Given the description of an element on the screen output the (x, y) to click on. 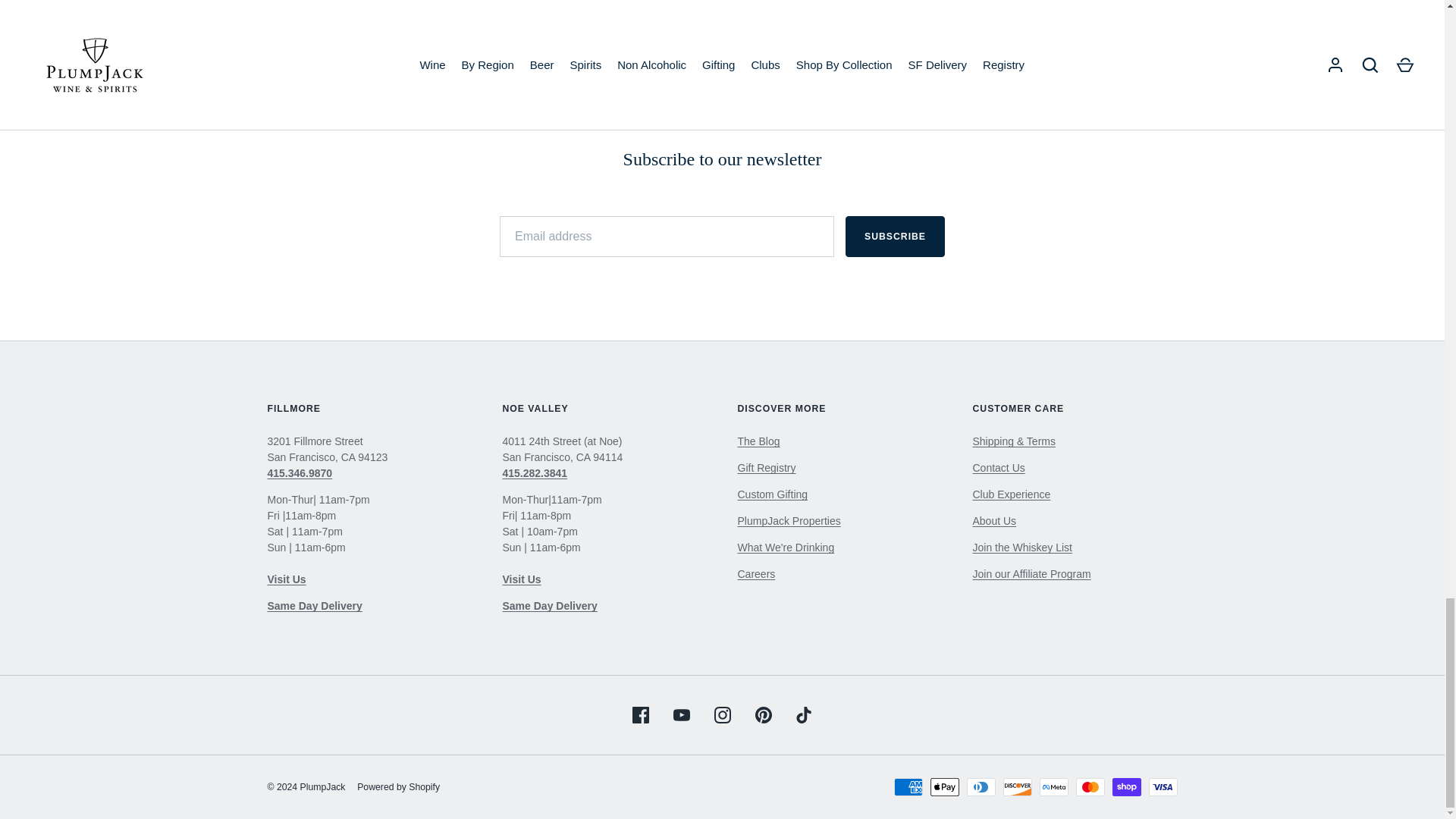
tel:415.282.3841 (534, 472)
Whiskey Mailing List Sign Up (1021, 547)
About (994, 521)
Affiliate Sign-Up (1031, 573)
Gift Registry (765, 467)
Staff Picks (785, 547)
Visit us in the - Marina (285, 579)
Club Corner (757, 440)
Email (722, 117)
tel:415.346.9870 (298, 472)
